Given the description of an element on the screen output the (x, y) to click on. 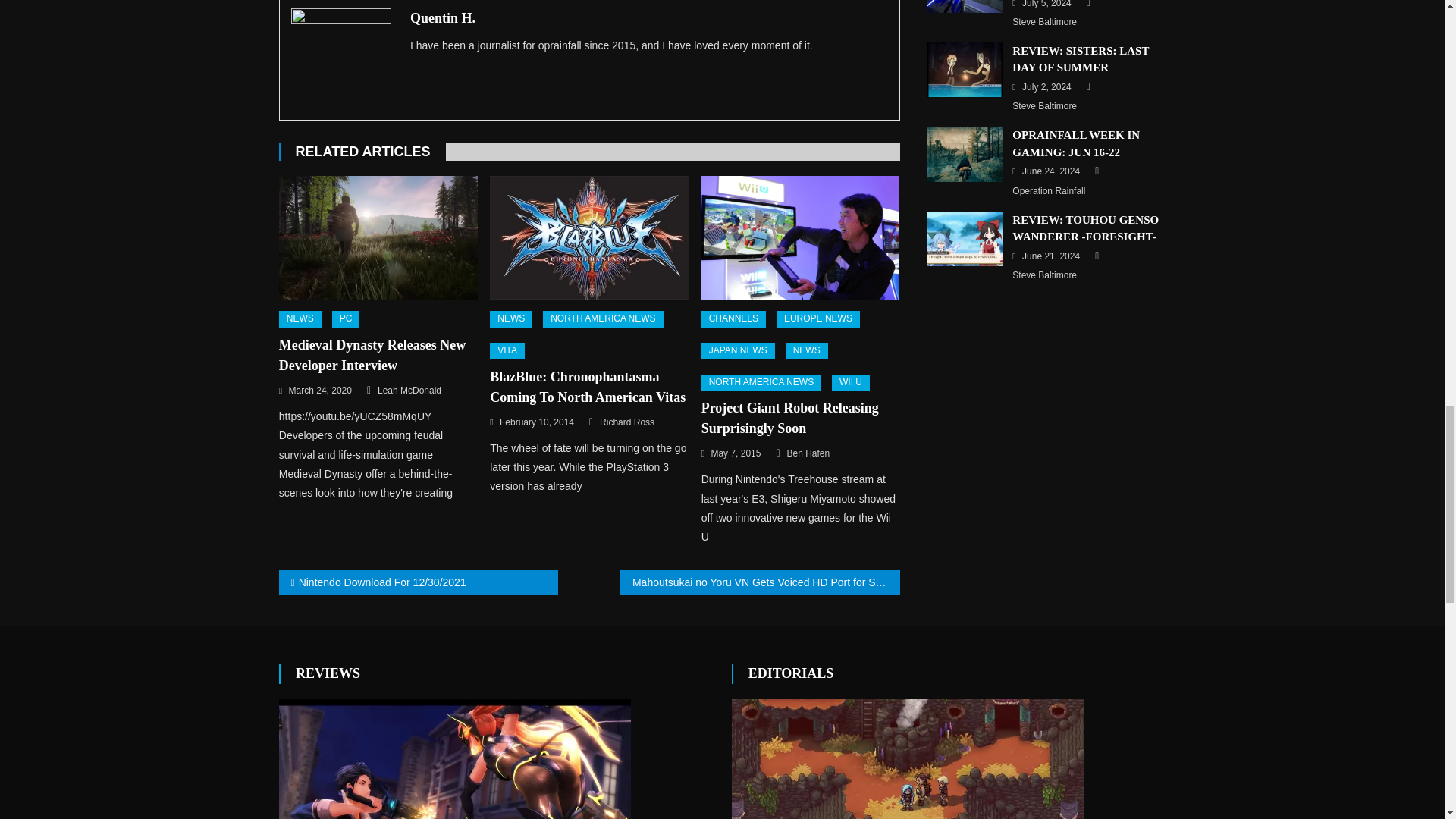
Medieval Dynasty Releases New Developer Interview (378, 238)
Project Giant Robot Releasing Surprisingly Soon (800, 238)
BlazBlue: Chronophantasma Coming To North American Vitas (588, 238)
